Given the description of an element on the screen output the (x, y) to click on. 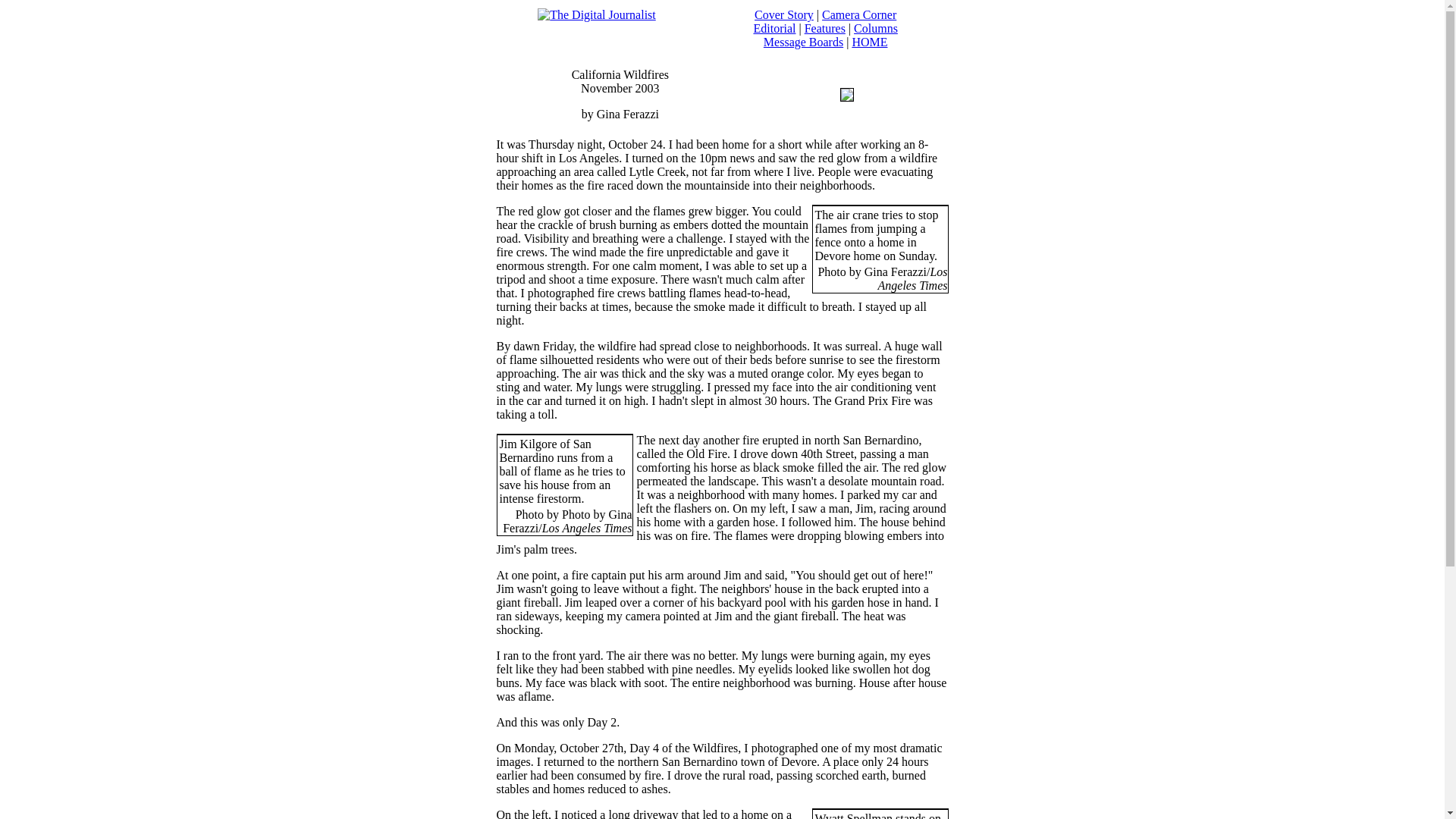
Camera Corner (859, 14)
Features (825, 28)
Editorial (773, 28)
Cover Story (783, 14)
Message Boards (802, 42)
Columns (875, 28)
HOME (868, 42)
